Given the description of an element on the screen output the (x, y) to click on. 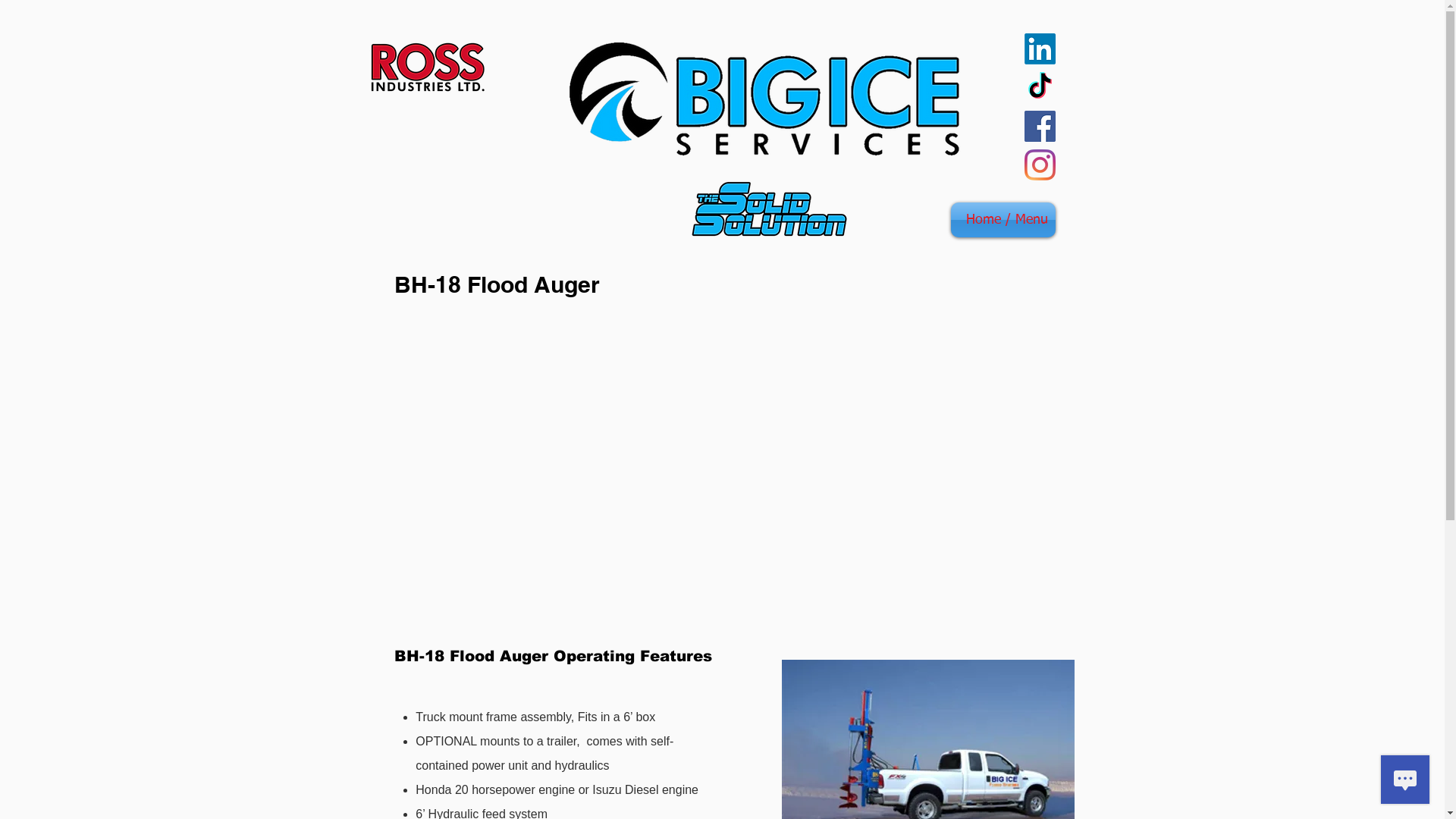
Solid Solution Logo - refined_Transparen Element type: hover (767, 208)
Home / Menu Element type: text (1002, 219)
